Given the description of an element on the screen output the (x, y) to click on. 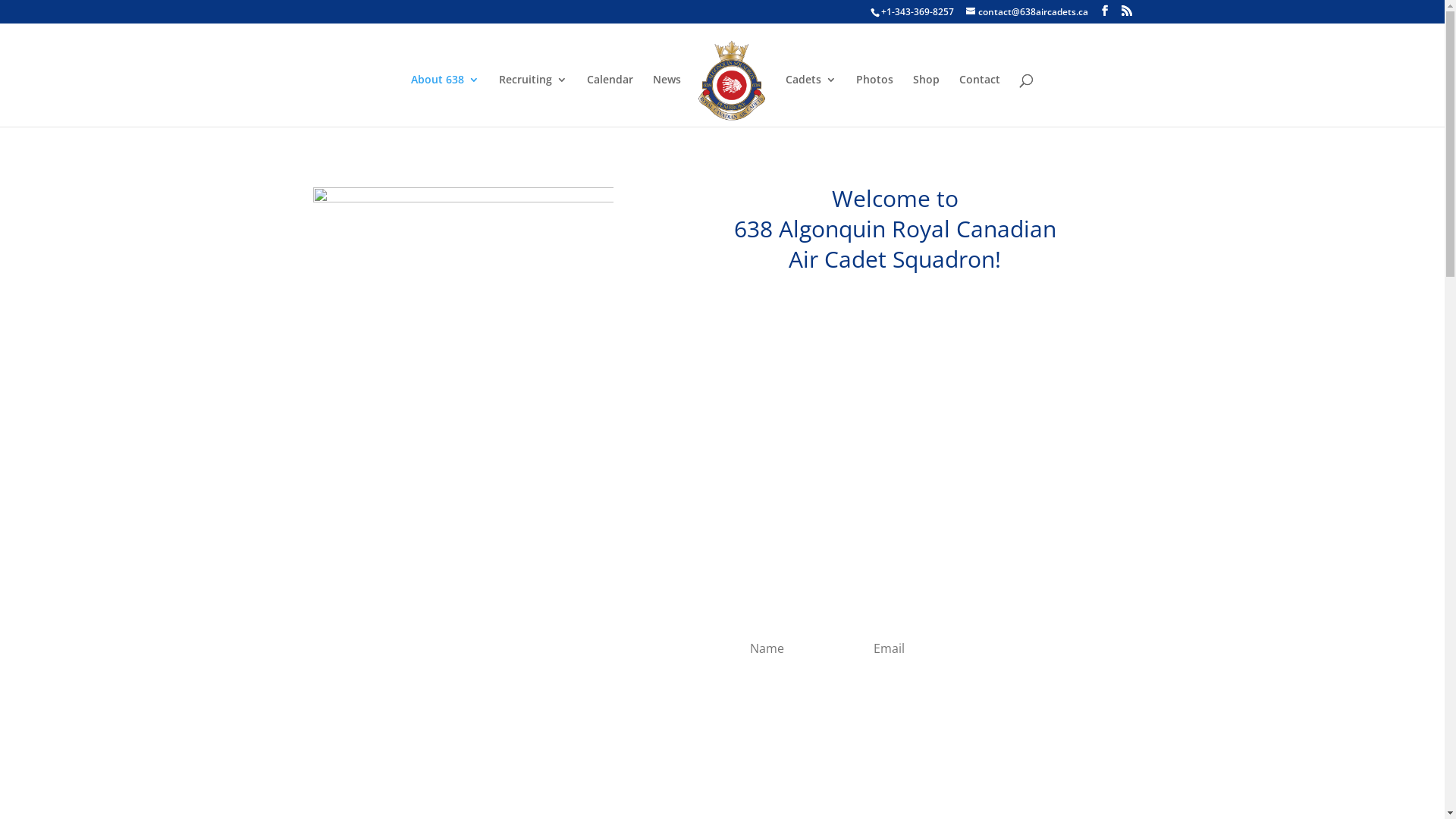
Recruiting Element type: text (532, 100)
Get news Element type: text (1053, 648)
About 638 Element type: text (445, 100)
Photos Element type: text (874, 100)
Shop Element type: text (926, 100)
contact@638aircadets.ca Element type: text (1027, 11)
Contact Element type: text (979, 100)
Calendar Element type: text (609, 100)
News Element type: text (666, 100)
Cadets Element type: text (810, 100)
+1-343-369-8257 Element type: text (917, 11)
